Given the description of an element on the screen output the (x, y) to click on. 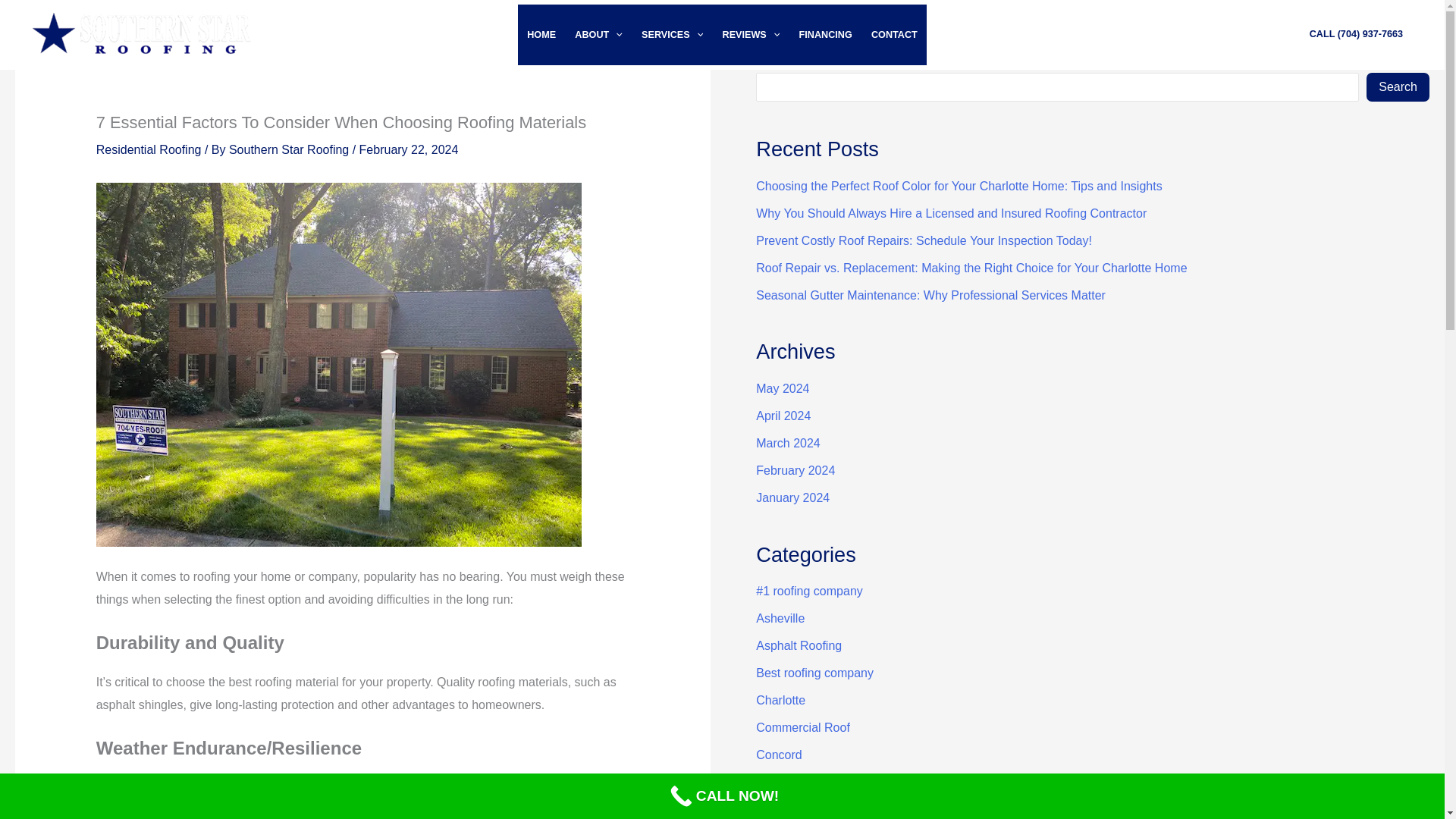
CONTACT (893, 34)
ABOUT (598, 34)
SERVICES (671, 34)
REVIEWS (751, 34)
View all posts by Southern Star Roofing (290, 149)
FINANCING (825, 34)
